Given the description of an element on the screen output the (x, y) to click on. 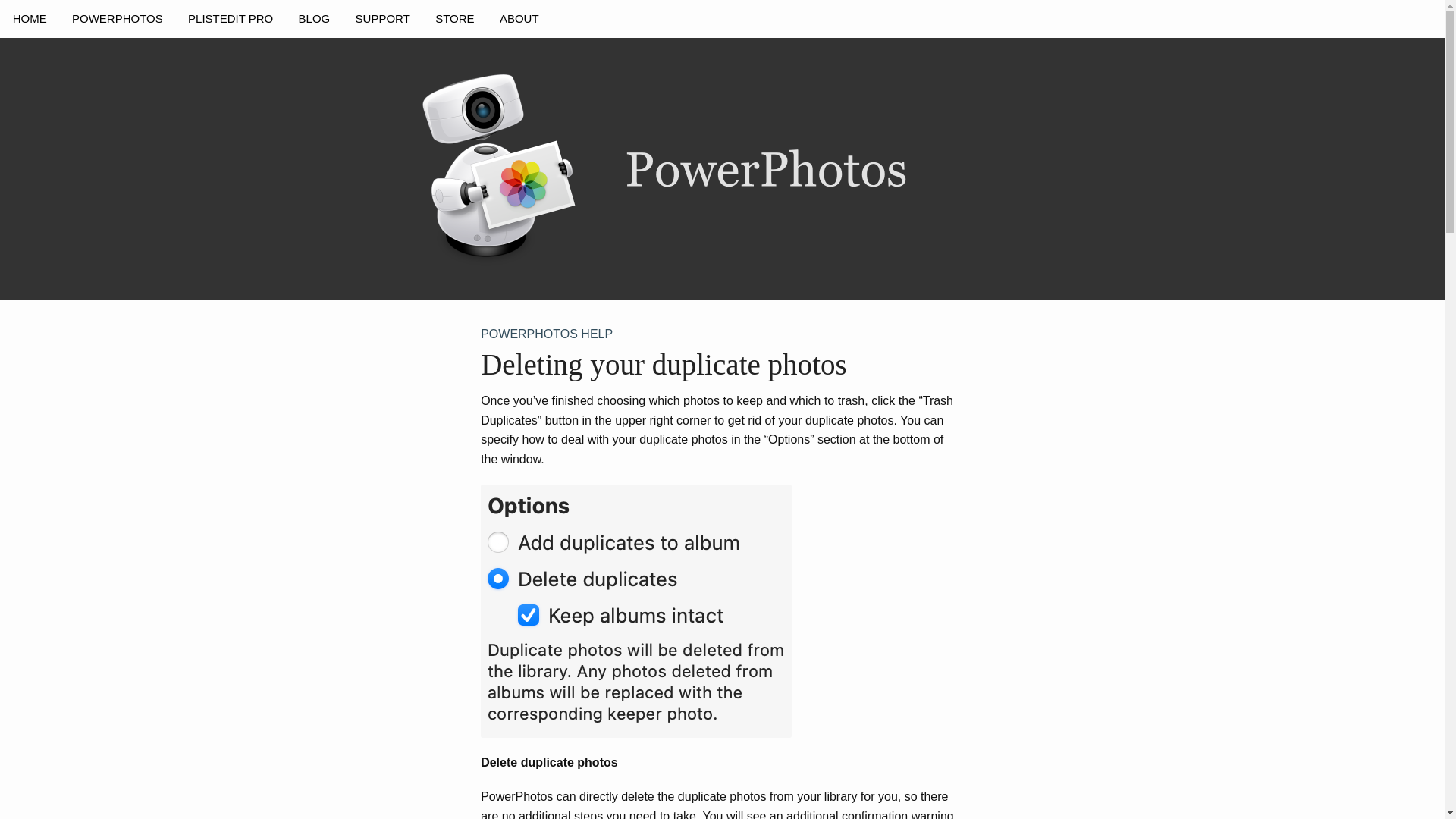
STORE (455, 18)
HOME (29, 18)
BLOG (313, 18)
PLISTEDIT PRO (229, 18)
POWERPHOTOS HELP (721, 333)
ABOUT (518, 18)
POWERPHOTOS (116, 18)
SUPPORT (382, 18)
